Given the description of an element on the screen output the (x, y) to click on. 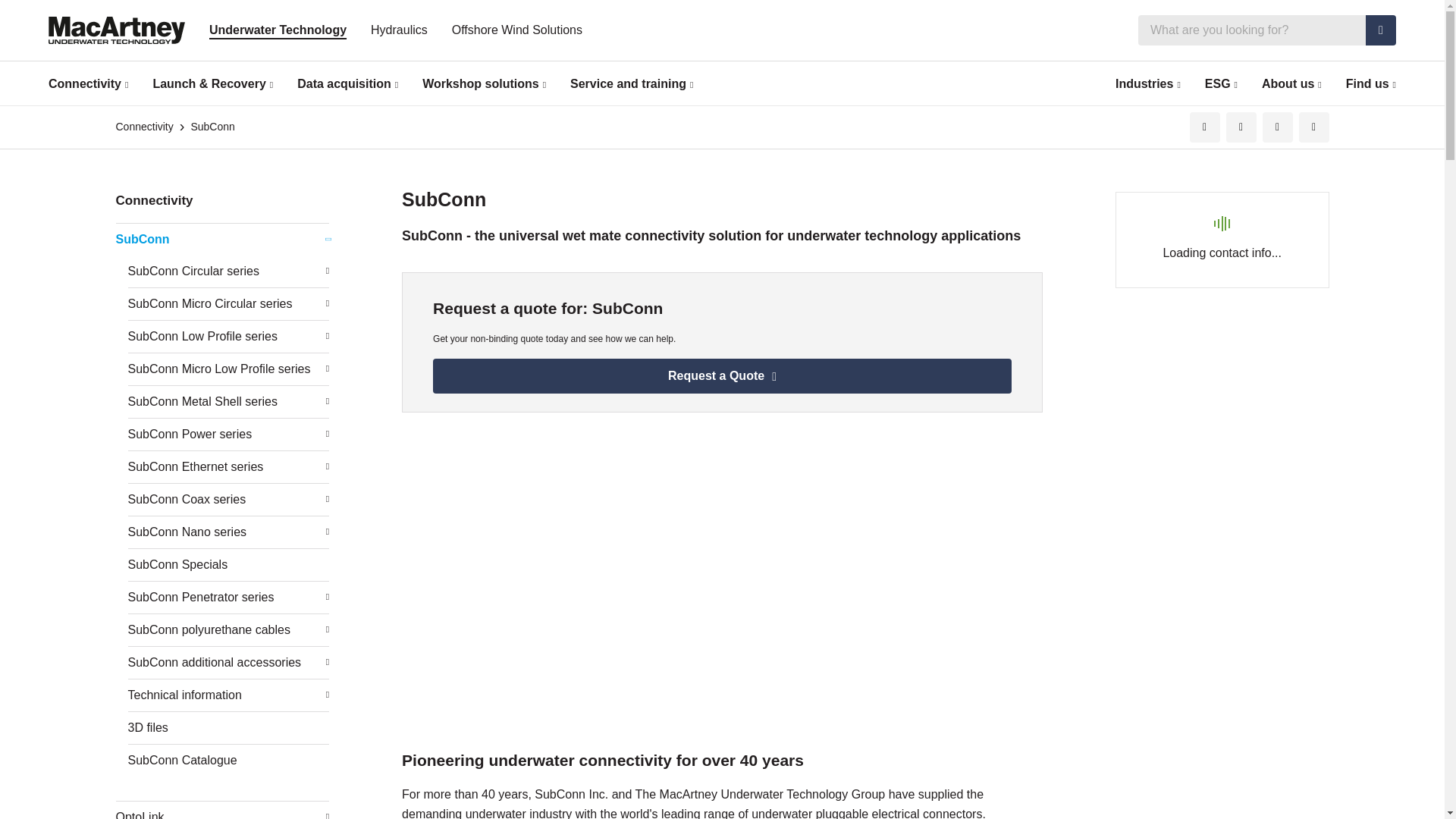
MacArtney - Underwater Technology.svg (116, 30)
Hydraulics (399, 29)
Connectivity (87, 83)
MacArtney - Advanced Workshop Solutions (634, 567)
SubConn (212, 126)
Share page on LinkedIn (1204, 127)
Underwater Technology (277, 29)
Offshore Wind Solutions (516, 29)
What are you looking for? (1267, 30)
Share page on Facebook (1240, 127)
